Given the description of an element on the screen output the (x, y) to click on. 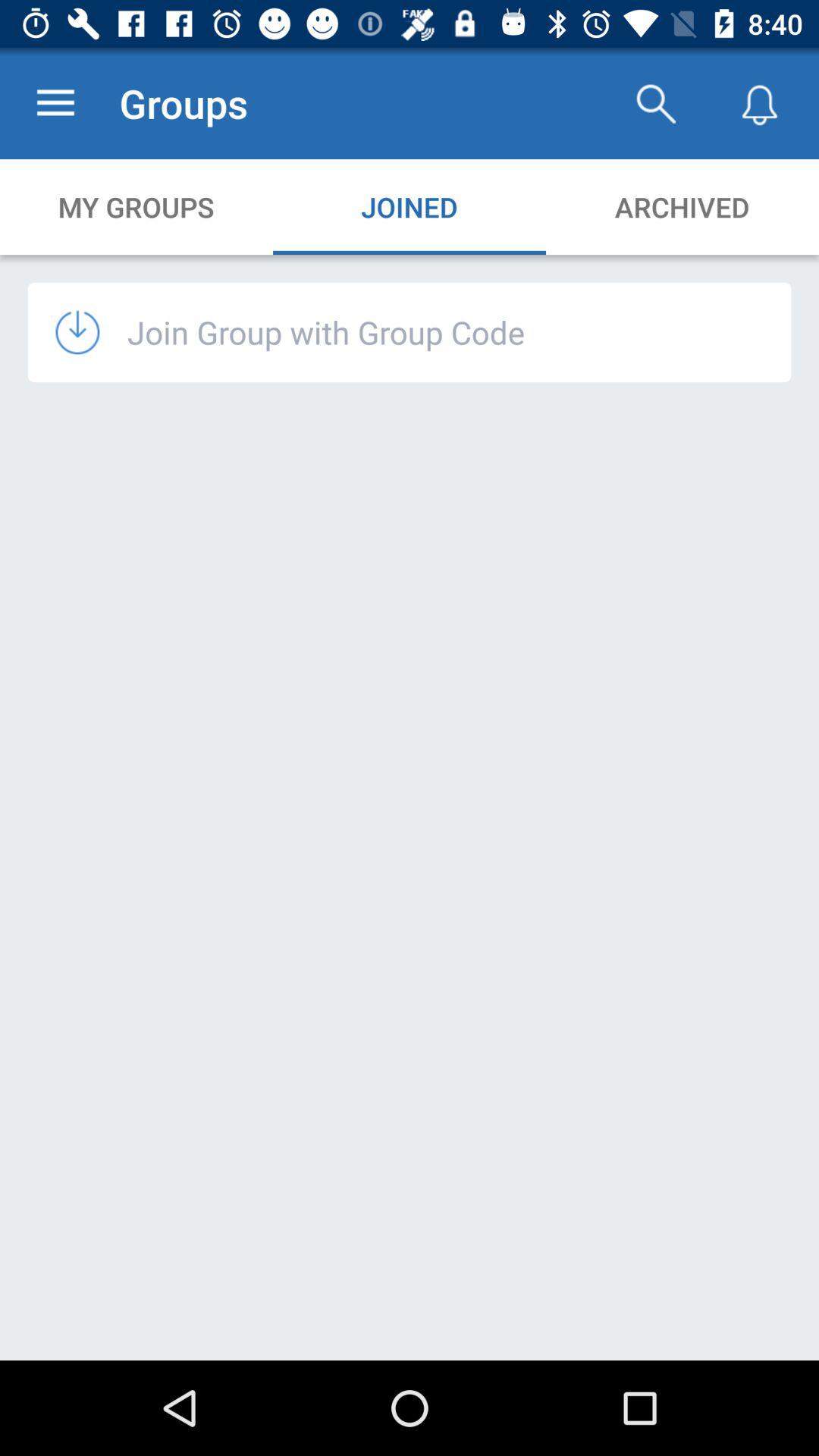
select the app next to the groups app (655, 103)
